Given the description of an element on the screen output the (x, y) to click on. 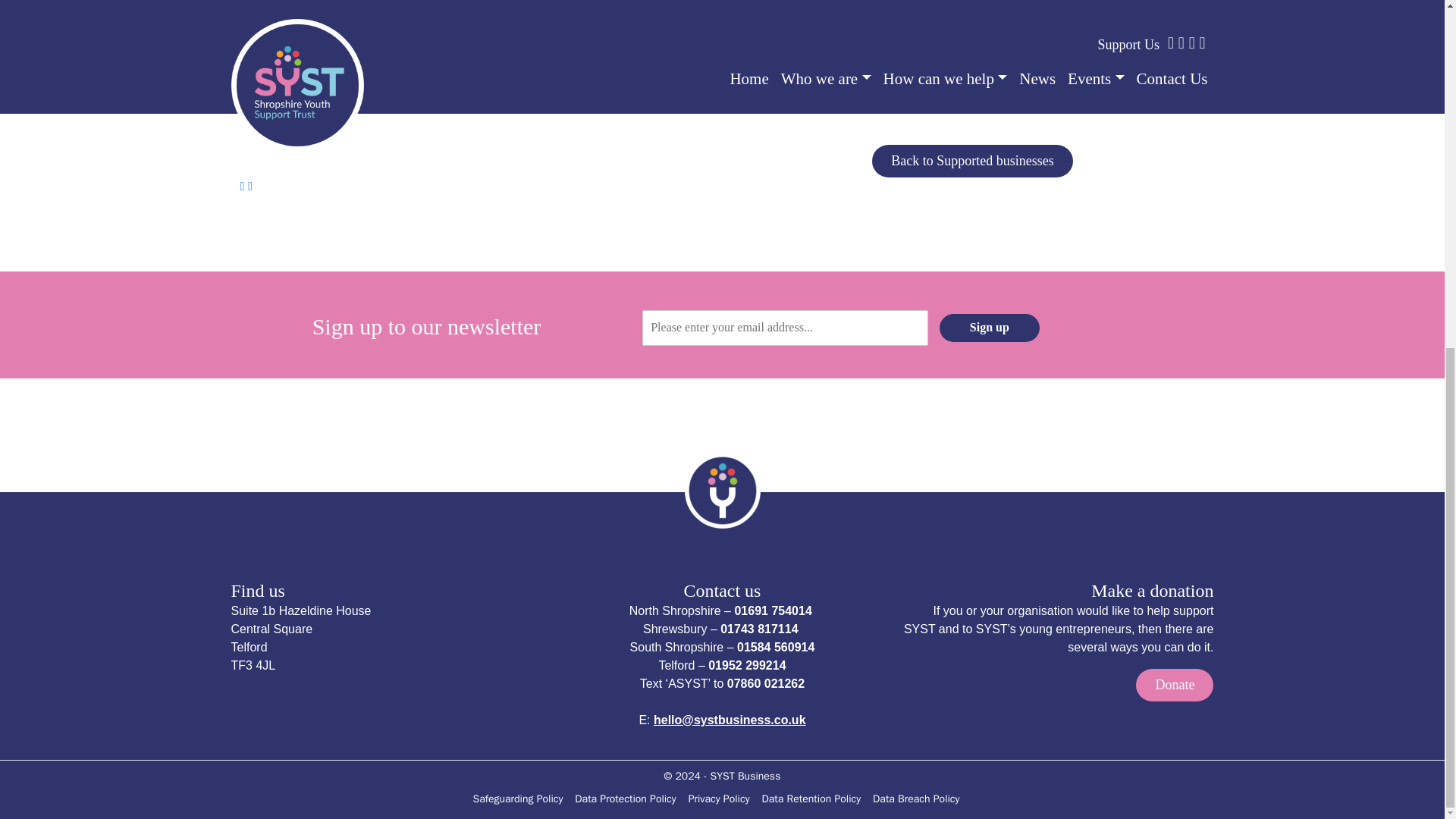
Sign up (989, 327)
